Given the description of an element on the screen output the (x, y) to click on. 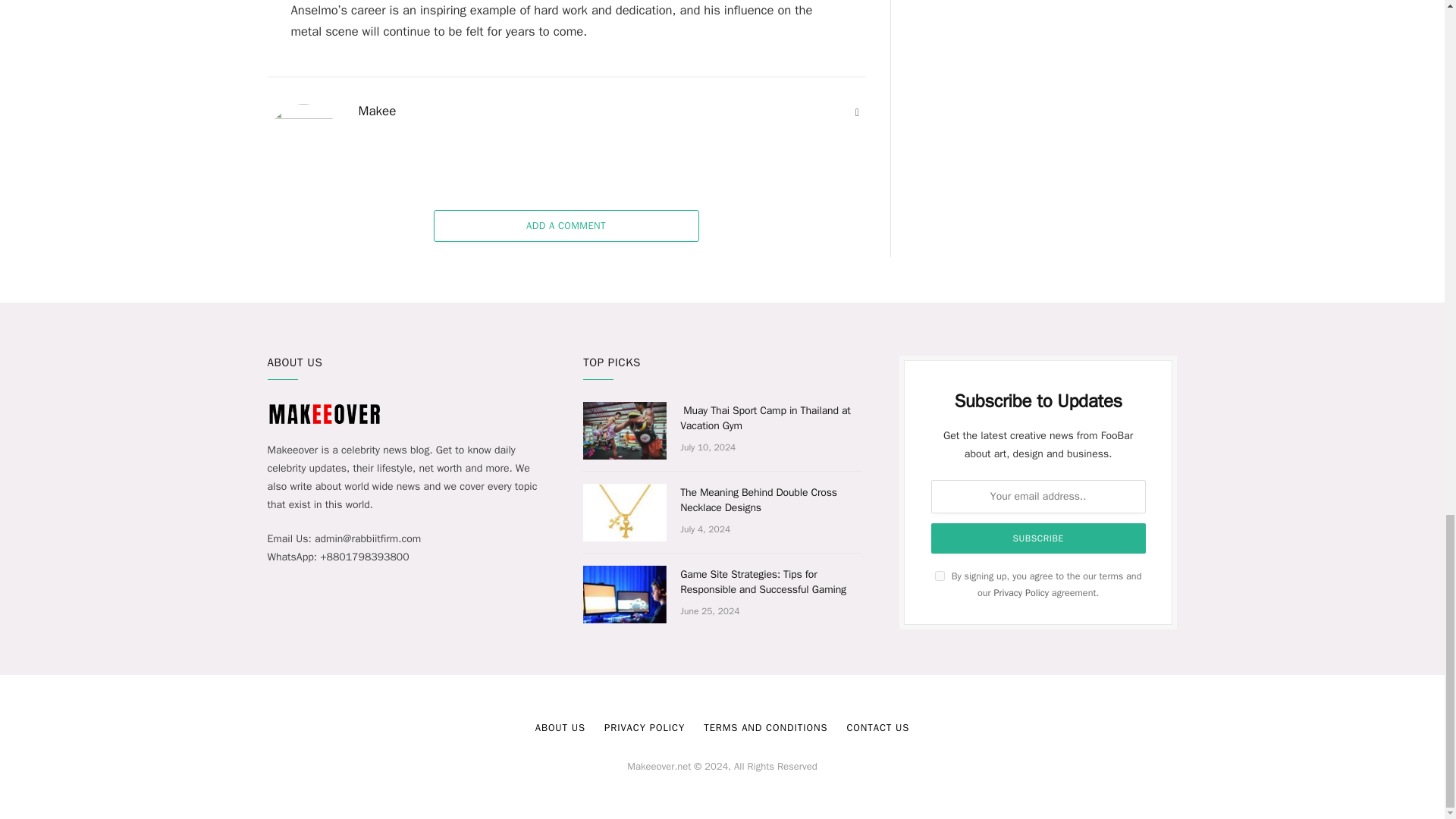
Website (856, 112)
Makee (377, 111)
ADD A COMMENT (565, 225)
Subscribe (1038, 538)
Posts by Makee (377, 111)
on (939, 575)
Website (856, 112)
